Given the description of an element on the screen output the (x, y) to click on. 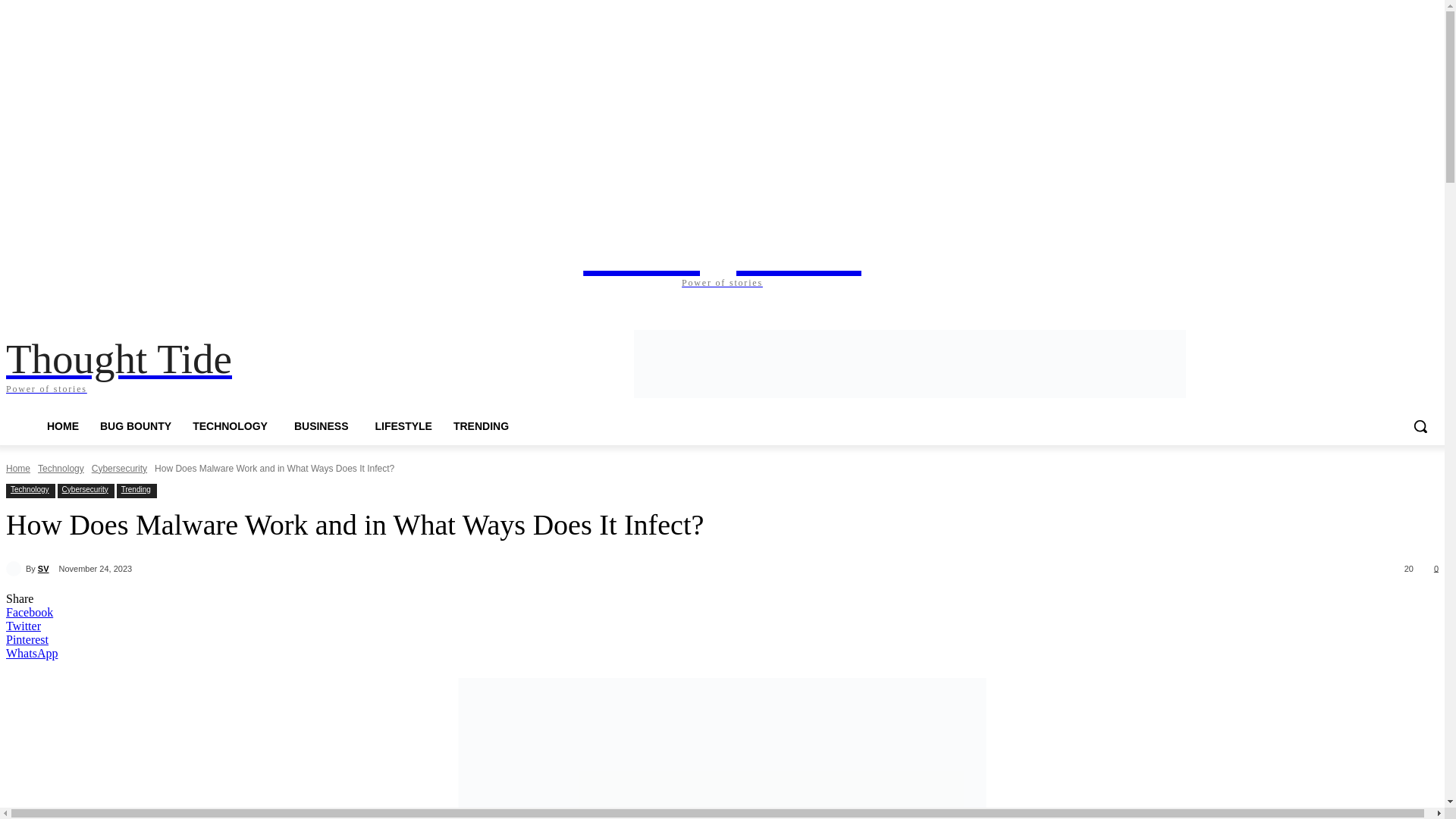
HOME (62, 425)
SV (15, 568)
Trending (135, 490)
BUSINESS (324, 426)
0 (1433, 567)
TECHNOLOGY (232, 426)
